Given the description of an element on the screen output the (x, y) to click on. 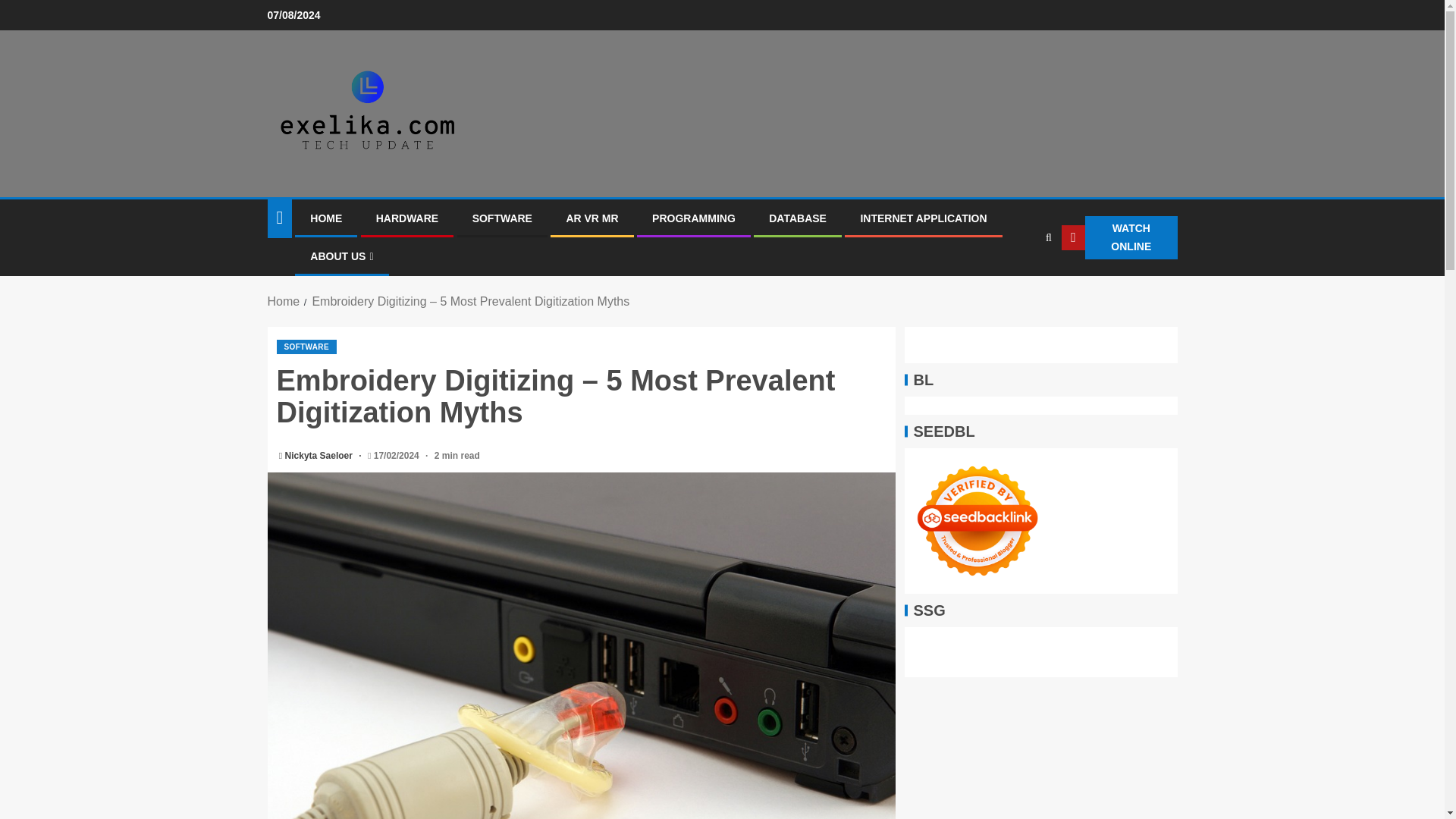
HOME (326, 218)
ABOUT US (341, 256)
INTERNET APPLICATION (923, 218)
Seedbacklink (976, 520)
PROGRAMMING (693, 218)
SOFTWARE (501, 218)
WATCH ONLINE (1119, 238)
Home (282, 300)
Nickyta Saeloer (320, 455)
SOFTWARE (306, 346)
Search (1018, 284)
AR VR MR (591, 218)
HARDWARE (406, 218)
DATABASE (797, 218)
